Given the description of an element on the screen output the (x, y) to click on. 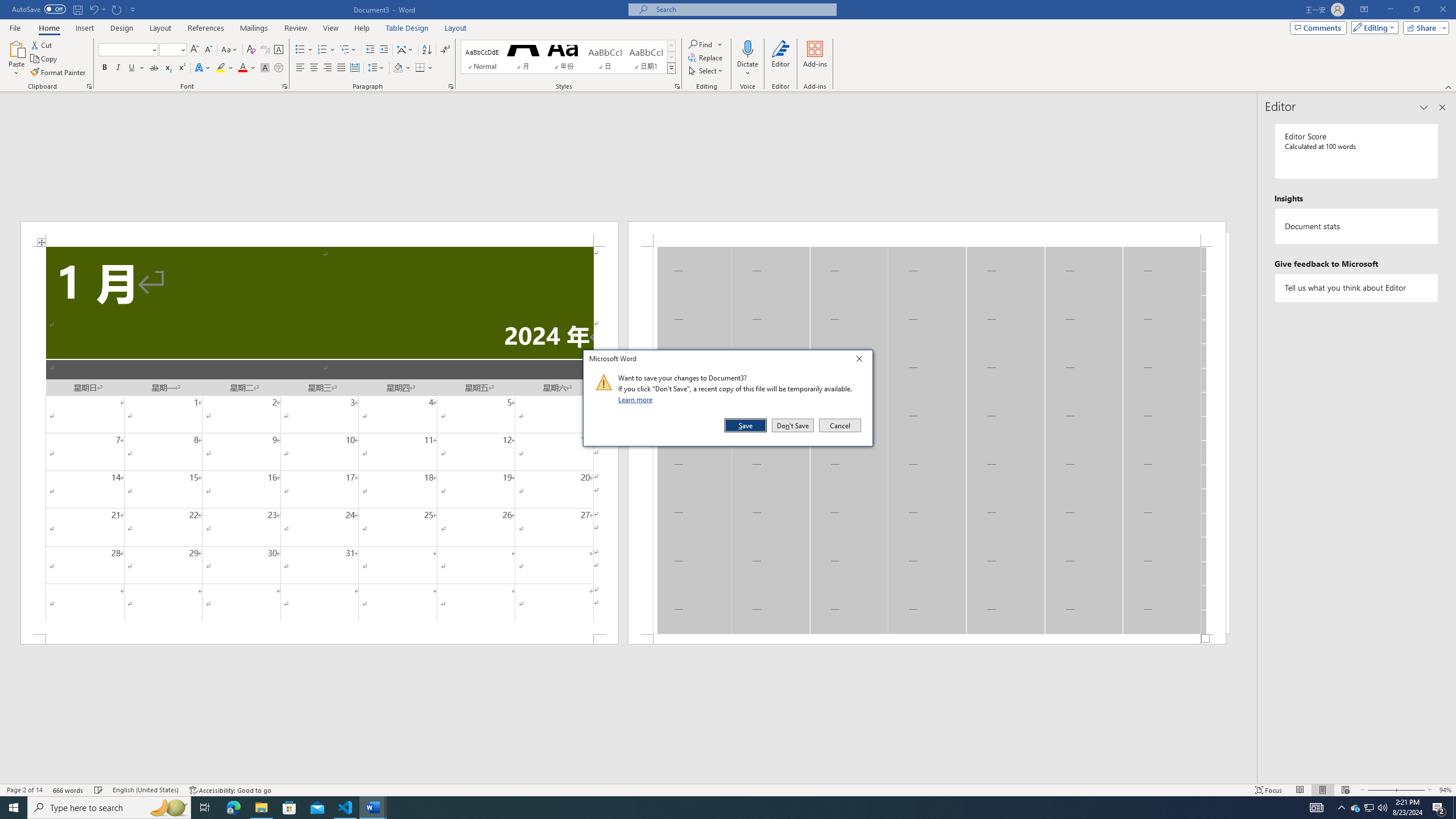
Undo Apply Quick Style (96, 9)
Insert (83, 28)
Change Case (229, 49)
Font (124, 49)
Underline (136, 67)
Notification Chevron (1341, 807)
Shading RGB(0, 0, 0) (397, 67)
Styles (670, 67)
Quick Access Toolbar (74, 9)
Open (182, 49)
Table Design (407, 28)
Footer -Section 1- (926, 638)
AutoSave (38, 9)
Running applications (717, 807)
